Given the description of an element on the screen output the (x, y) to click on. 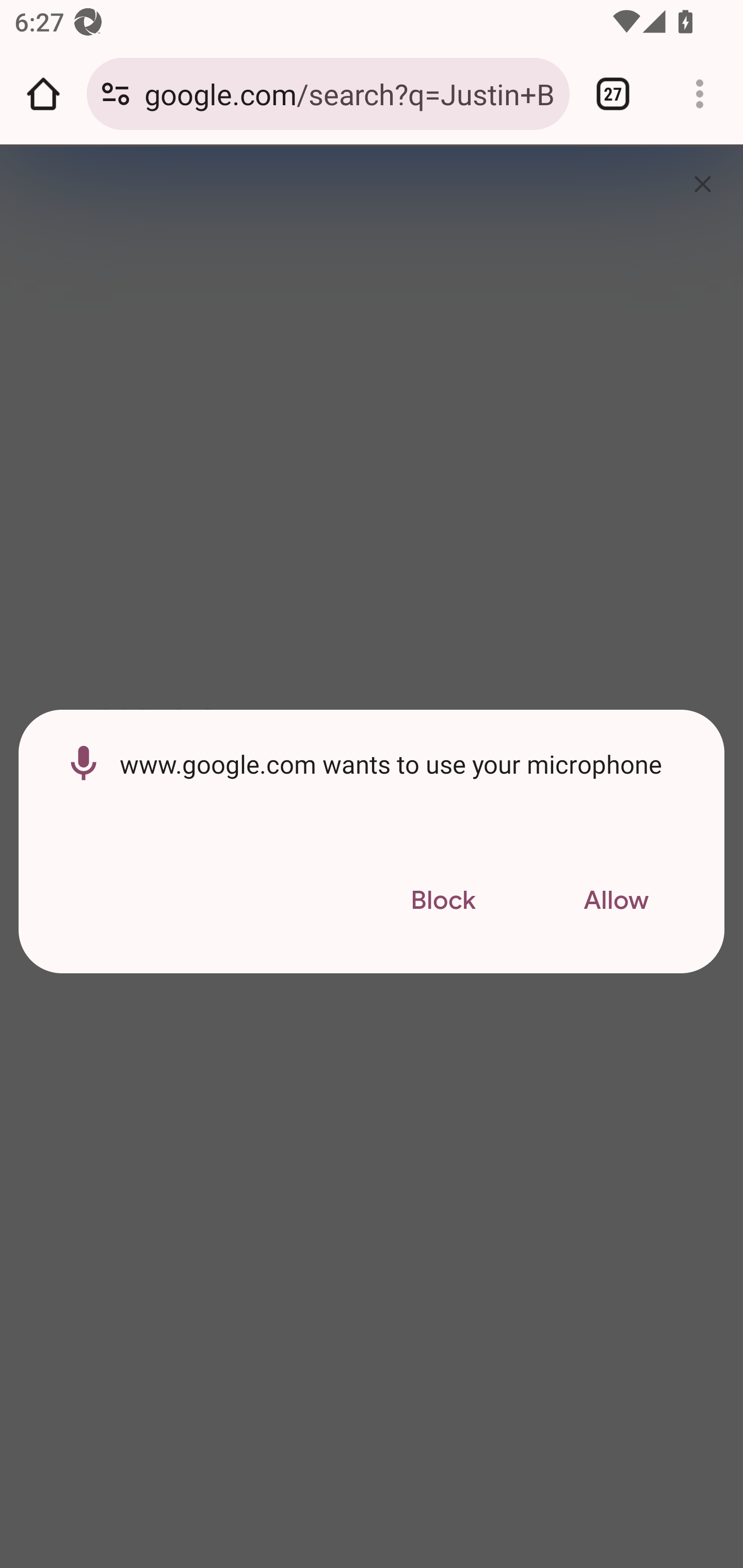
Open the home page (43, 93)
Connection is secure (115, 93)
Switch or close tabs (612, 93)
Customize and control Google Chrome (699, 93)
Block (442, 900)
Allow (615, 900)
